Given the description of an element on the screen output the (x, y) to click on. 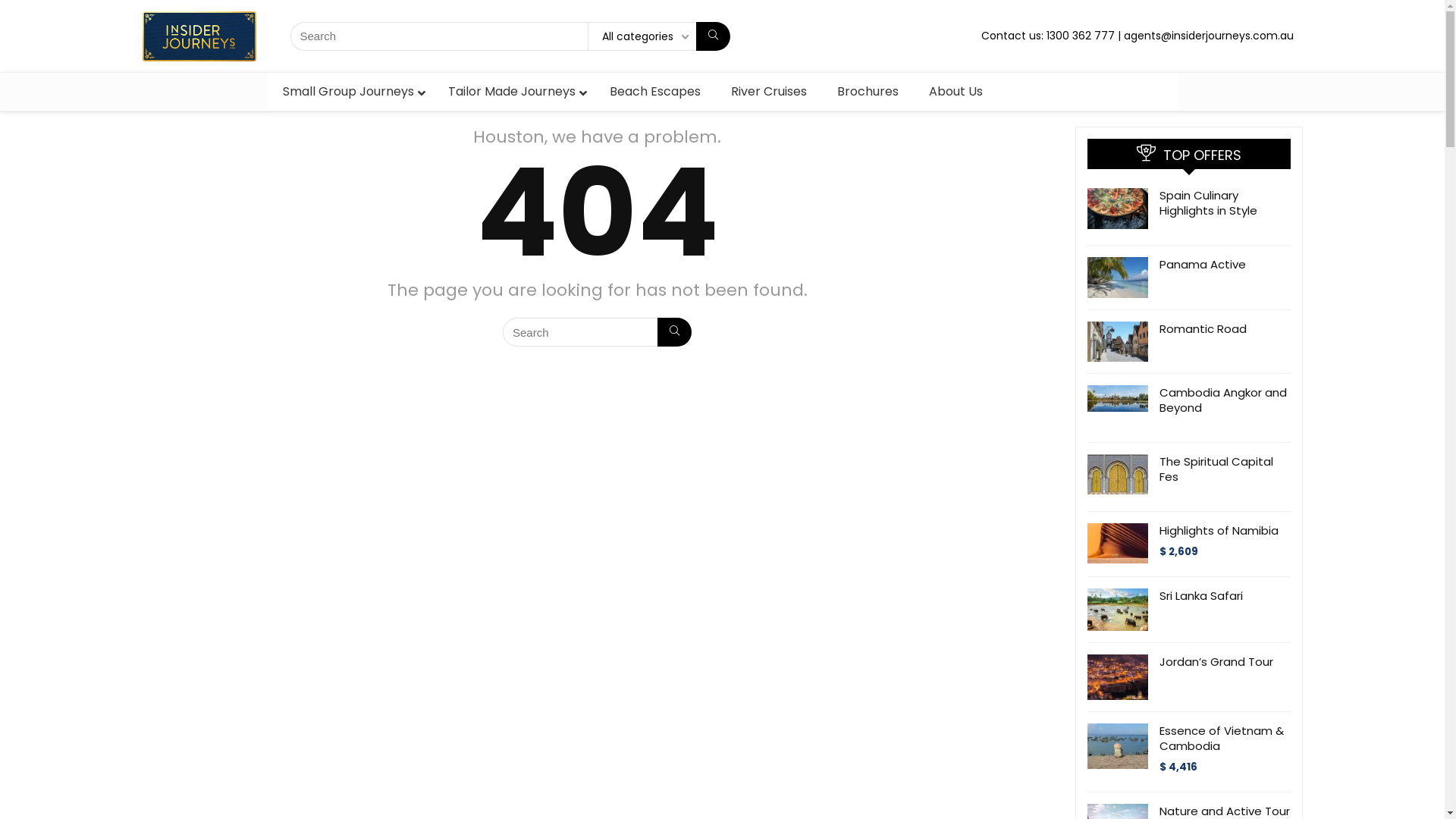
Tailor Made Journeys Element type: text (512, 91)
Beach Escapes Element type: text (654, 91)
Spain Culinary Highlights in Style Element type: text (1207, 202)
Romantic Road Element type: text (1201, 328)
The Spiritual Capital Fes Element type: text (1215, 468)
About Us Element type: text (955, 91)
Cambodia Angkor and Beyond Element type: text (1222, 399)
River Cruises Element type: text (768, 91)
Essence of Vietnam & Cambodia Element type: text (1220, 737)
agents@insiderjourneys.com.au Element type: text (1208, 35)
Small Group Journeys Element type: text (349, 91)
Panama Active Element type: text (1201, 264)
Brochures Element type: text (867, 91)
Sri Lanka Safari Element type: text (1200, 595)
Highlights of Namibia Element type: text (1217, 530)
